Given the description of an element on the screen output the (x, y) to click on. 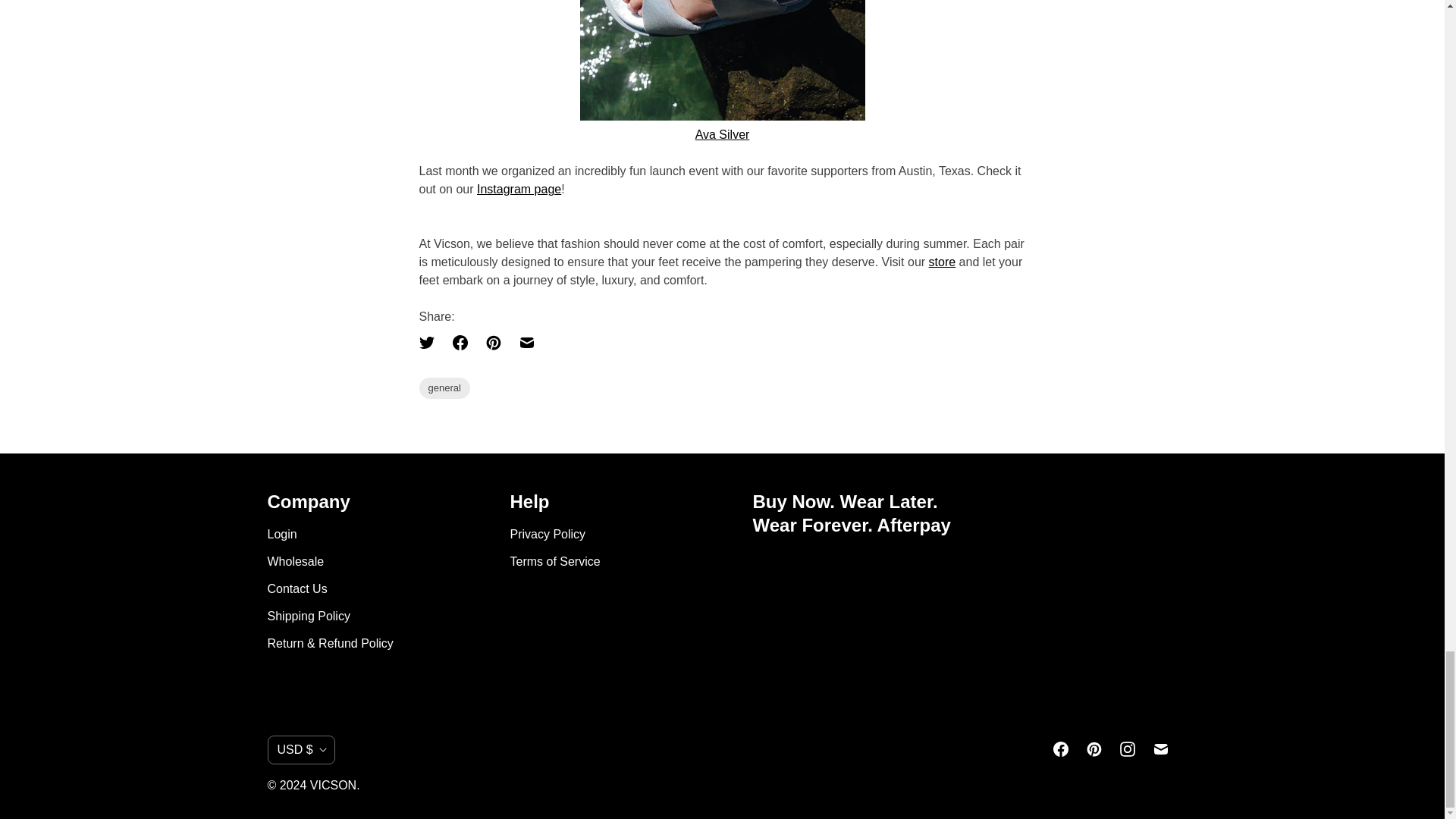
Email this to a friend (526, 342)
Share this on Facebook (459, 342)
Vicson Blog tagged general (444, 387)
Share this on Pinterest (492, 342)
